Given the description of an element on the screen output the (x, y) to click on. 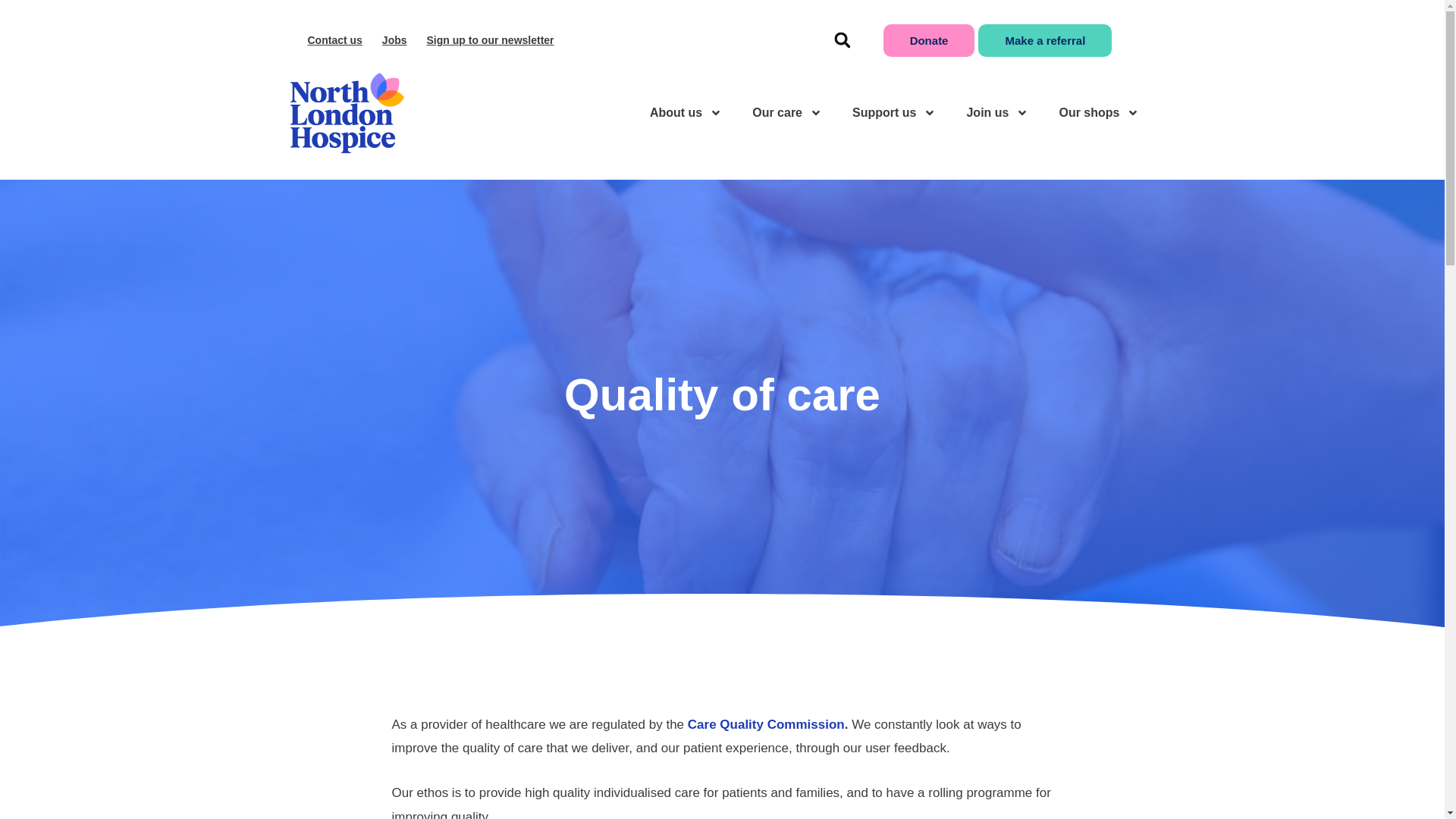
Contact us (334, 39)
Donate (929, 40)
Care Quality Commission (765, 724)
Our care (786, 112)
Make a referral (1045, 40)
Sign up to our newsletter (490, 39)
Jobs (394, 39)
About us (685, 112)
